Given the description of an element on the screen output the (x, y) to click on. 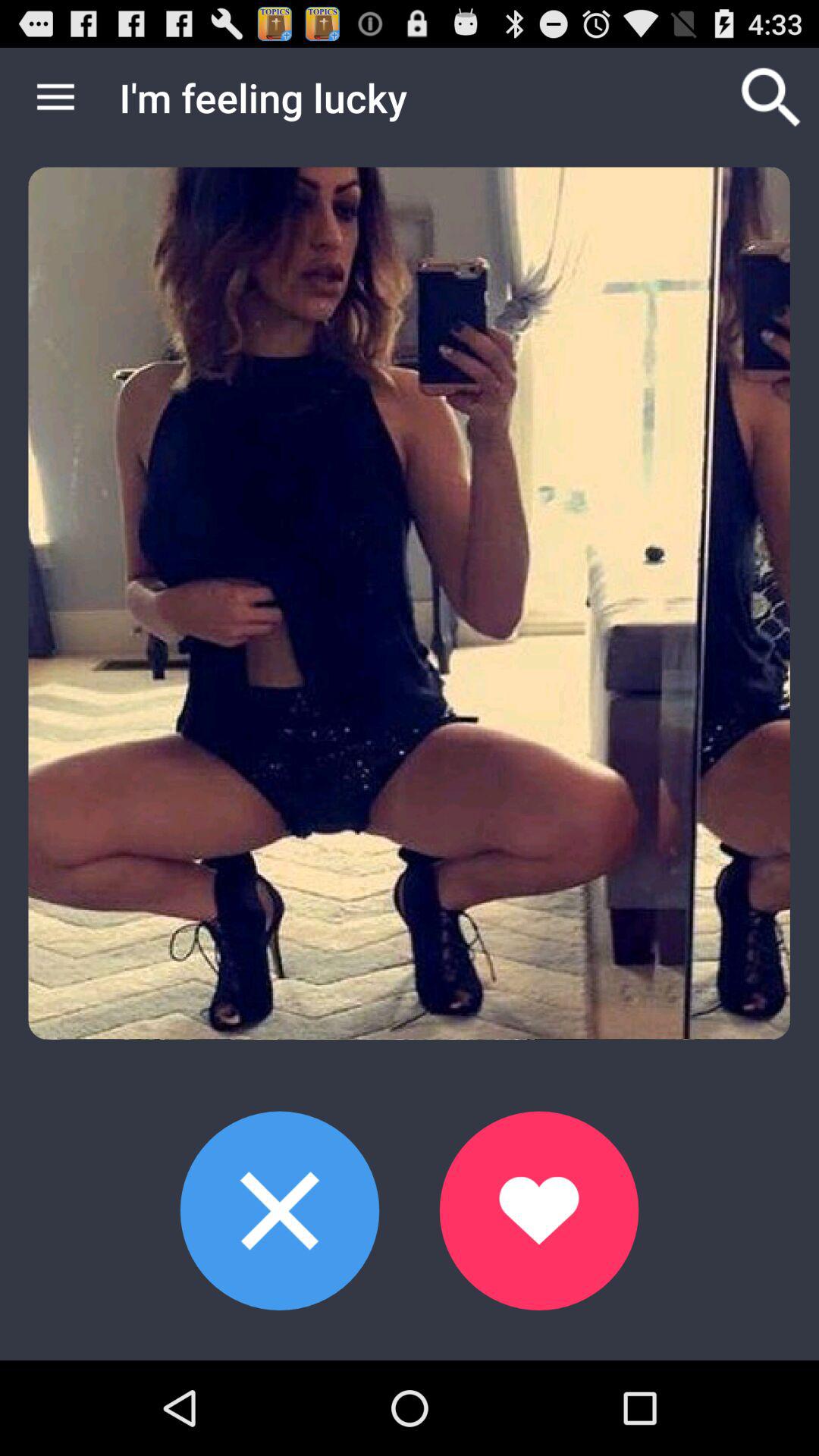
like person (538, 1210)
